Given the description of an element on the screen output the (x, y) to click on. 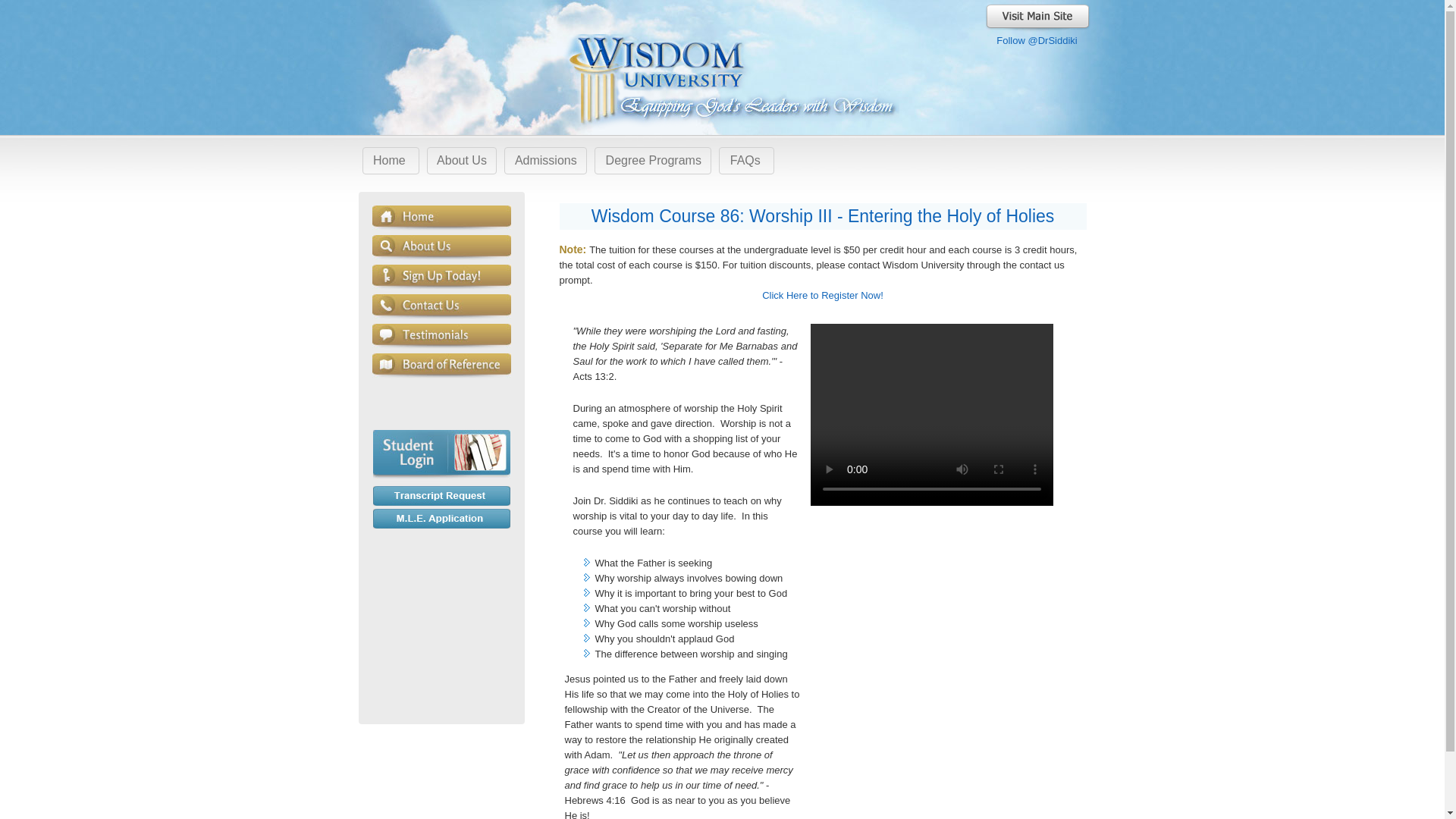
Click Here to Register Now! (822, 302)
